Given the description of an element on the screen output the (x, y) to click on. 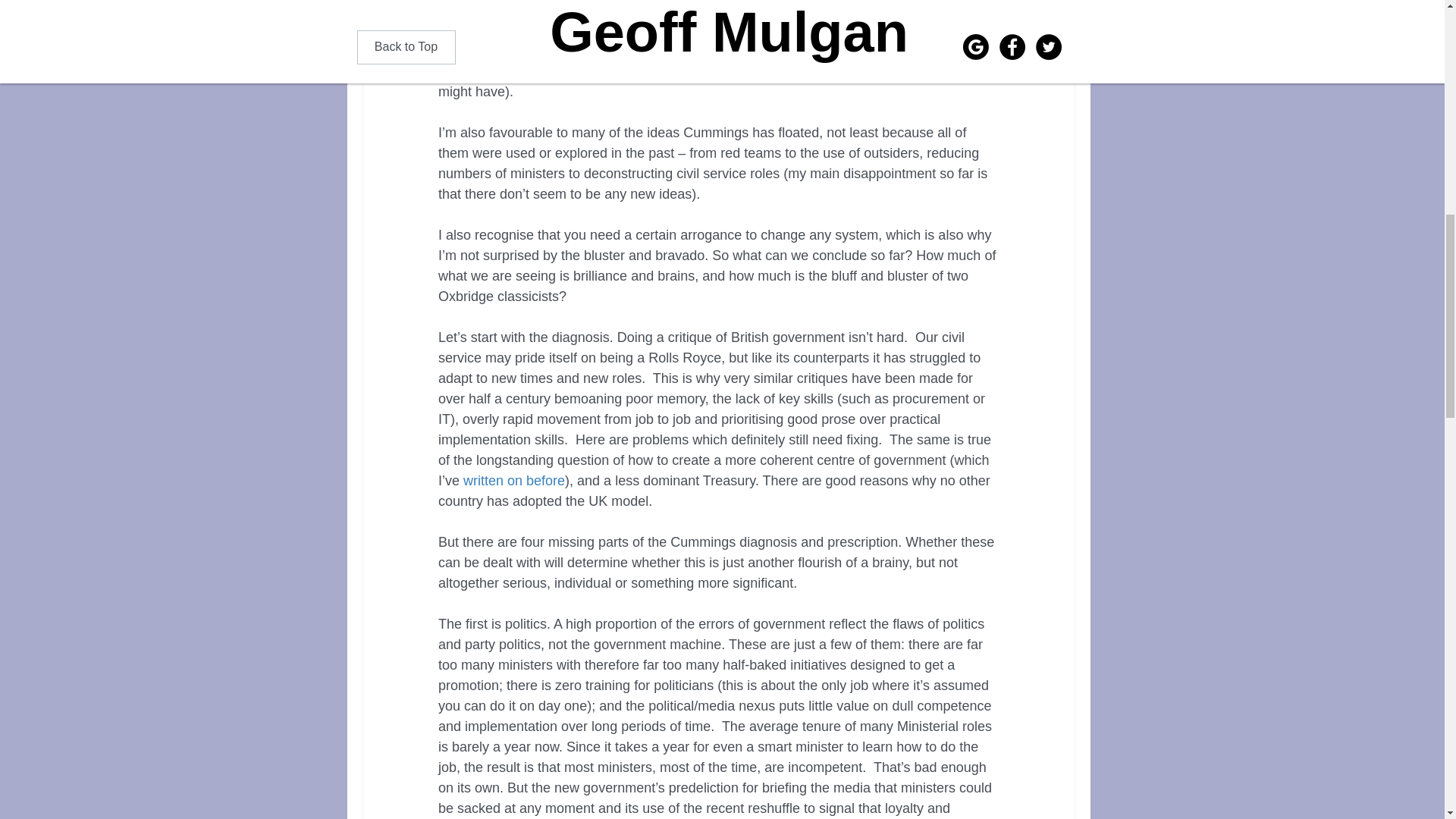
written on before (513, 480)
